Given the description of an element on the screen output the (x, y) to click on. 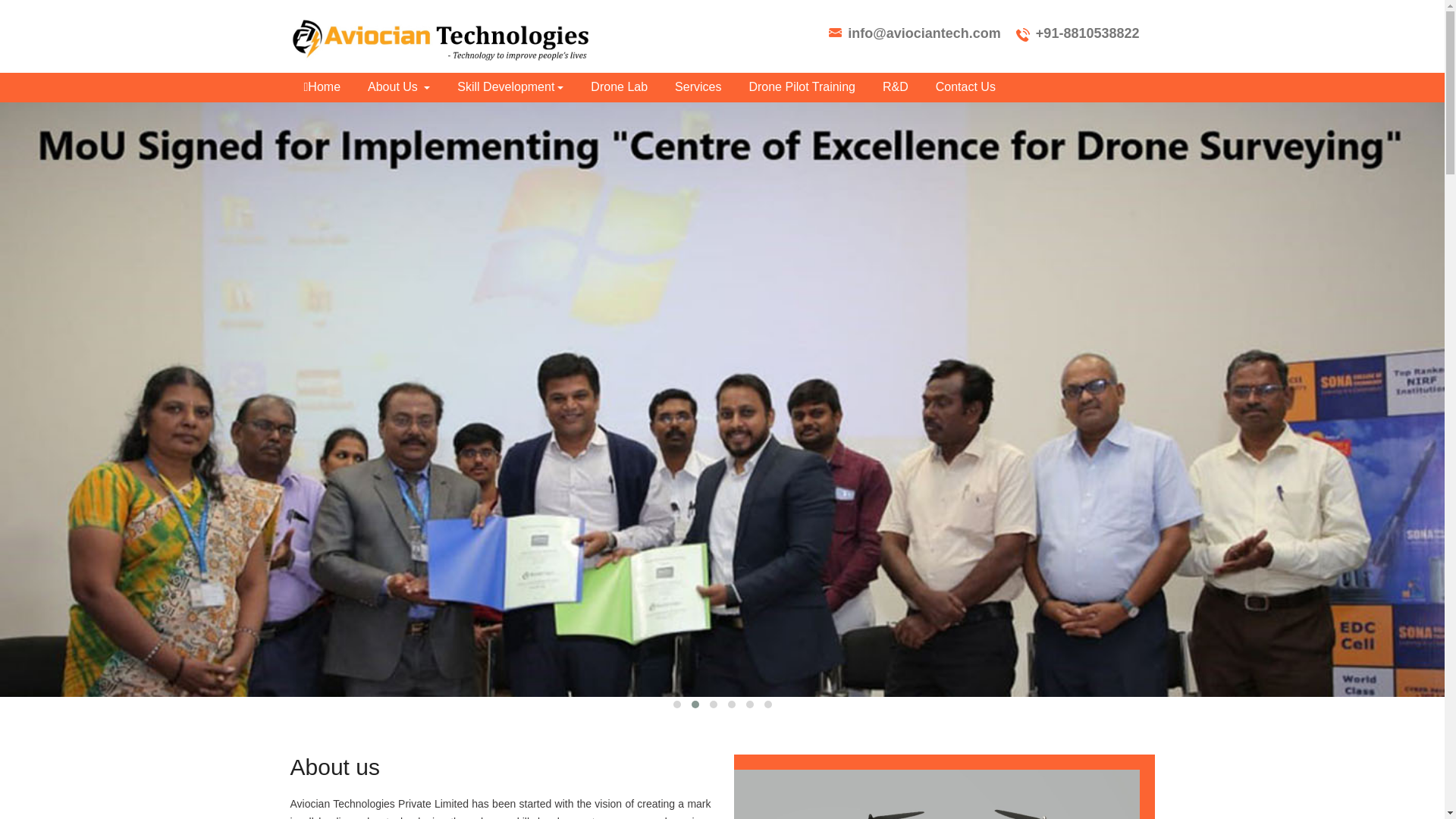
Drone Lab (618, 87)
Home (321, 87)
Services (698, 87)
Contact Us (958, 87)
Drone Pilot Training (802, 87)
About Us (398, 87)
Skill Development (510, 87)
